Given the description of an element on the screen output the (x, y) to click on. 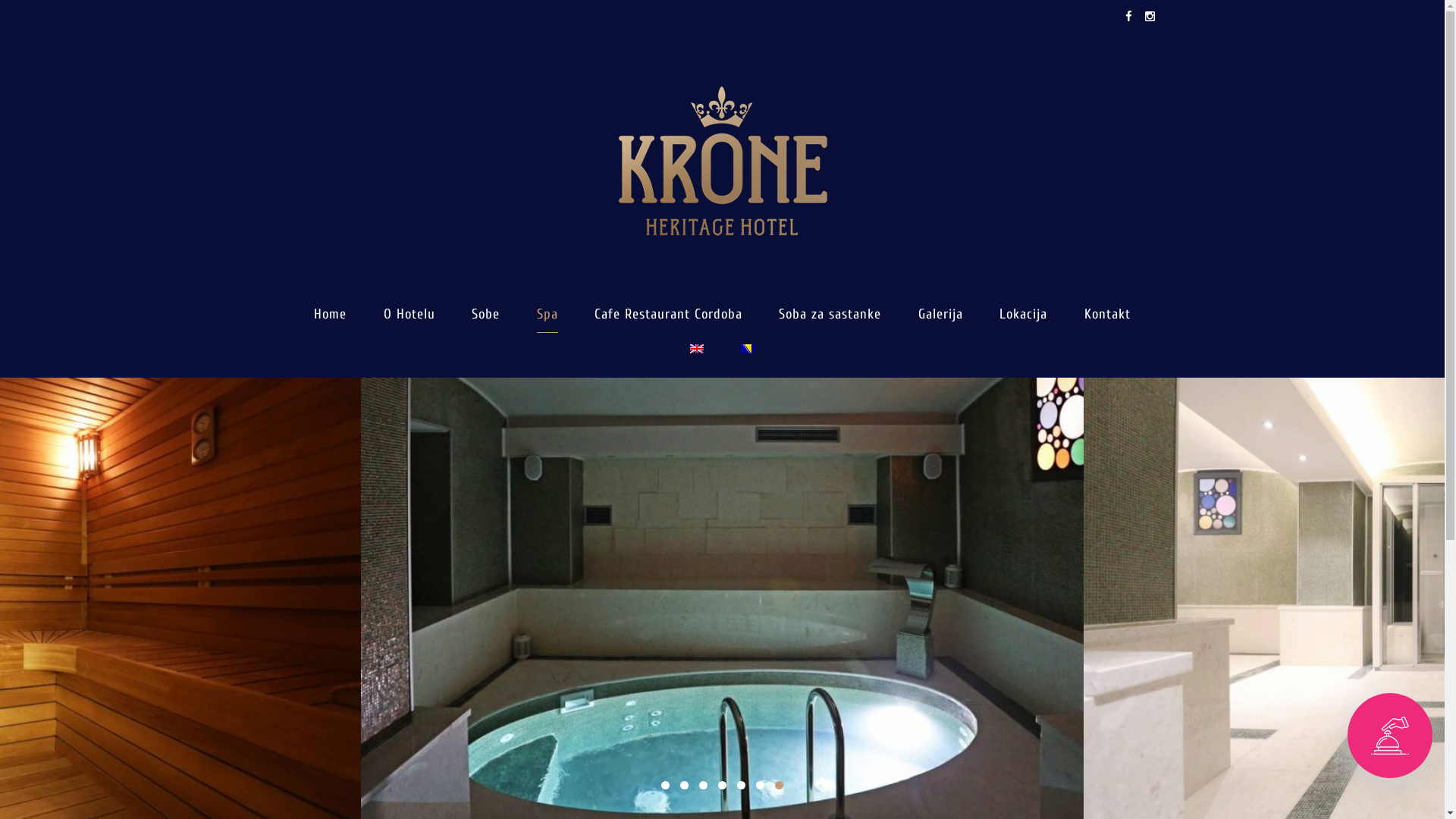
Facebook Element type: hover (1127, 16)
Galerija Element type: text (940, 314)
Sobe Element type: text (485, 314)
O Hotelu Element type: text (409, 314)
Soba za sastanke Element type: text (829, 314)
Skip to content Element type: text (0, 0)
Spa Element type: text (547, 314)
Home Element type: text (329, 314)
Lokacija Element type: text (1023, 314)
Cafe Restaurant Cordoba Element type: text (668, 314)
Kontakt Element type: text (1107, 314)
Instagram Element type: hover (1146, 16)
